Given the description of an element on the screen output the (x, y) to click on. 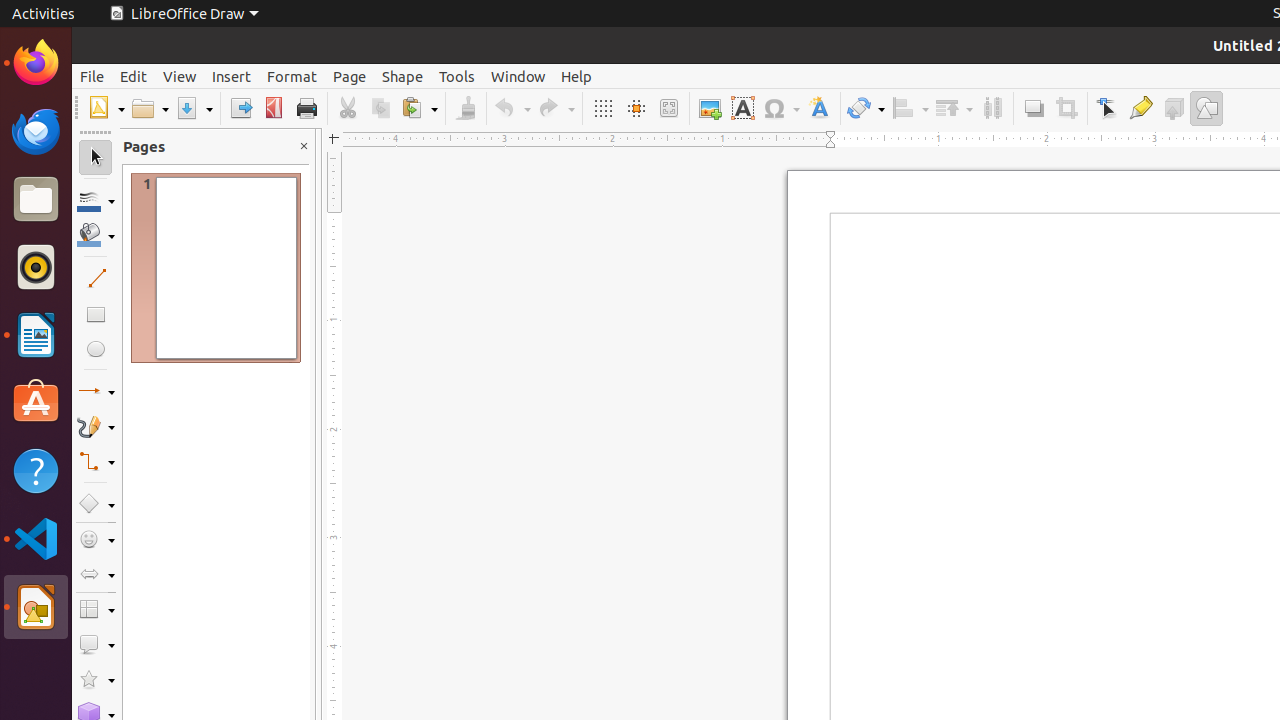
Fontwork Style Element type: toggle-button (819, 108)
LibreOffice Draw Element type: menu (183, 13)
Print Element type: push-button (306, 108)
LibreOffice Draw Element type: push-button (36, 607)
Connectors Element type: push-button (96, 461)
